Given the description of an element on the screen output the (x, y) to click on. 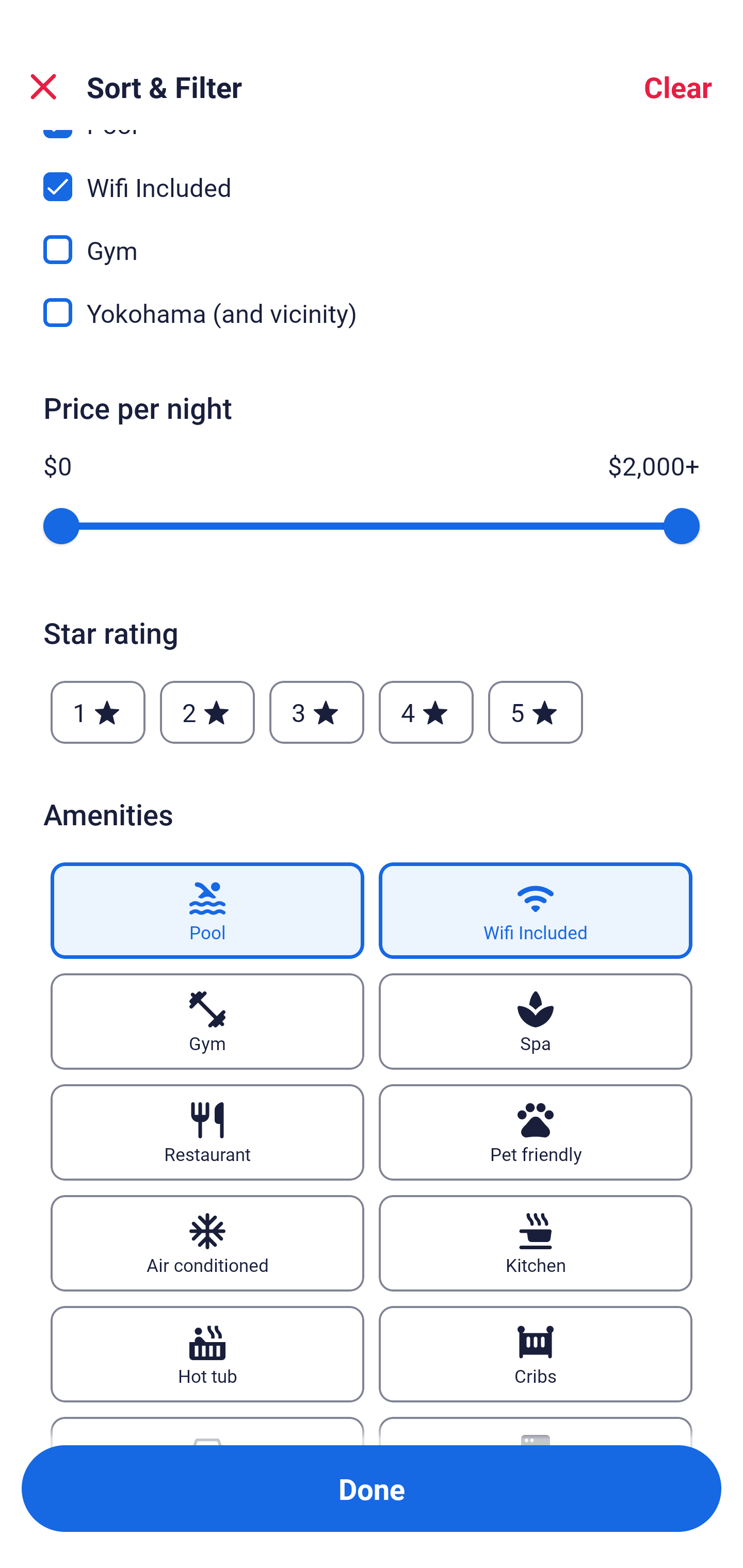
Close Sort and Filter (43, 86)
Clear (677, 86)
Wifi Included, Wifi Included (371, 175)
Gym, Gym (371, 237)
Yokohama (and vicinity), Yokohama (and vicinity) (371, 312)
1 (97, 712)
2 (206, 712)
3 (316, 712)
4 (426, 712)
5 (535, 712)
Pool (207, 910)
Wifi Included (535, 910)
Gym (207, 1021)
Spa (535, 1021)
Restaurant (207, 1131)
Pet friendly (535, 1131)
Air conditioned (207, 1243)
Kitchen (535, 1243)
Hot tub (207, 1353)
Cribs (535, 1353)
Apply and close Sort and Filter Done (371, 1488)
